Given the description of an element on the screen output the (x, y) to click on. 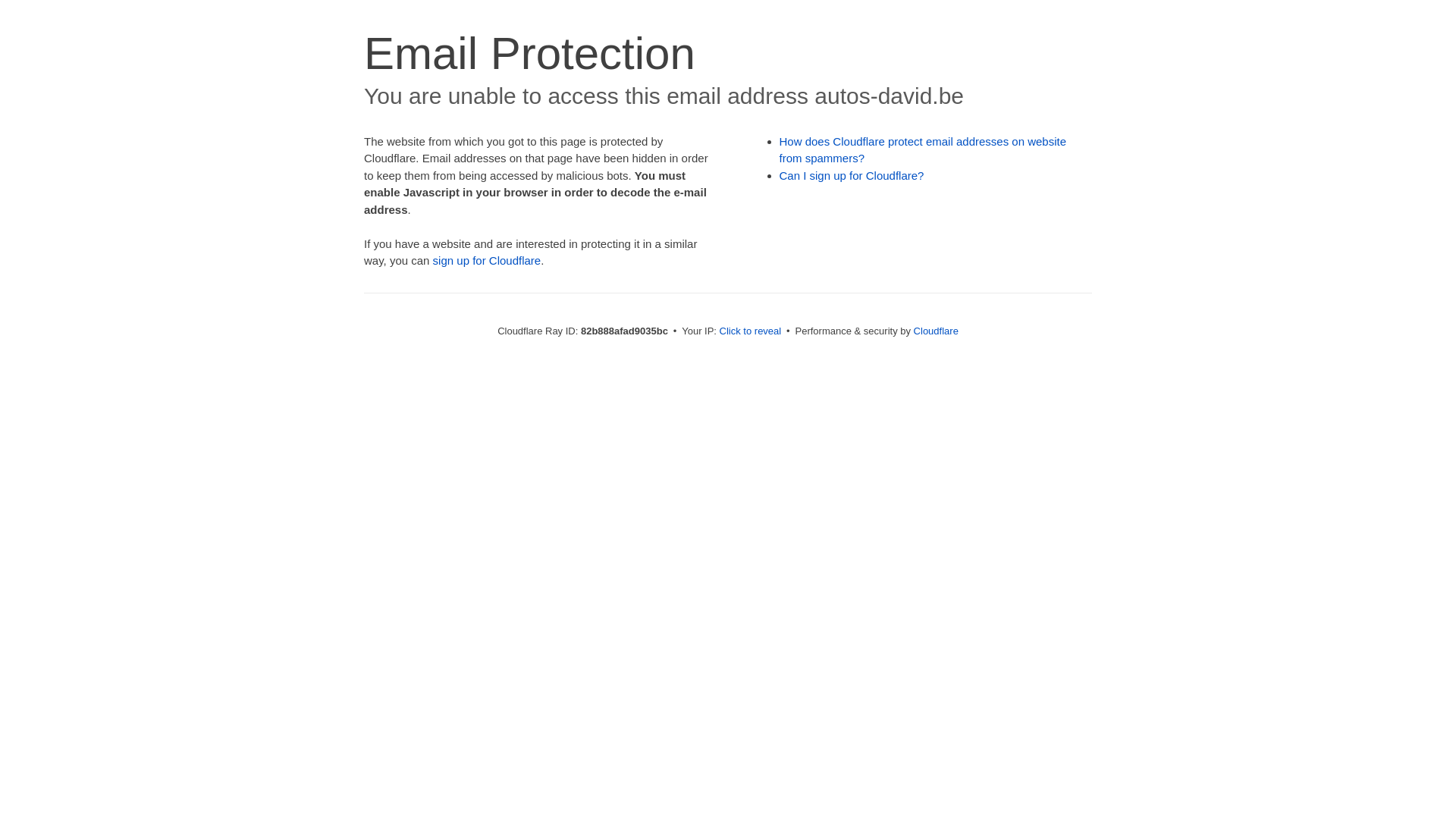
Can I sign up for Cloudflare? Element type: text (851, 175)
Cloudflare Element type: text (935, 330)
sign up for Cloudflare Element type: text (487, 260)
Click to reveal Element type: text (750, 330)
